Given the description of an element on the screen output the (x, y) to click on. 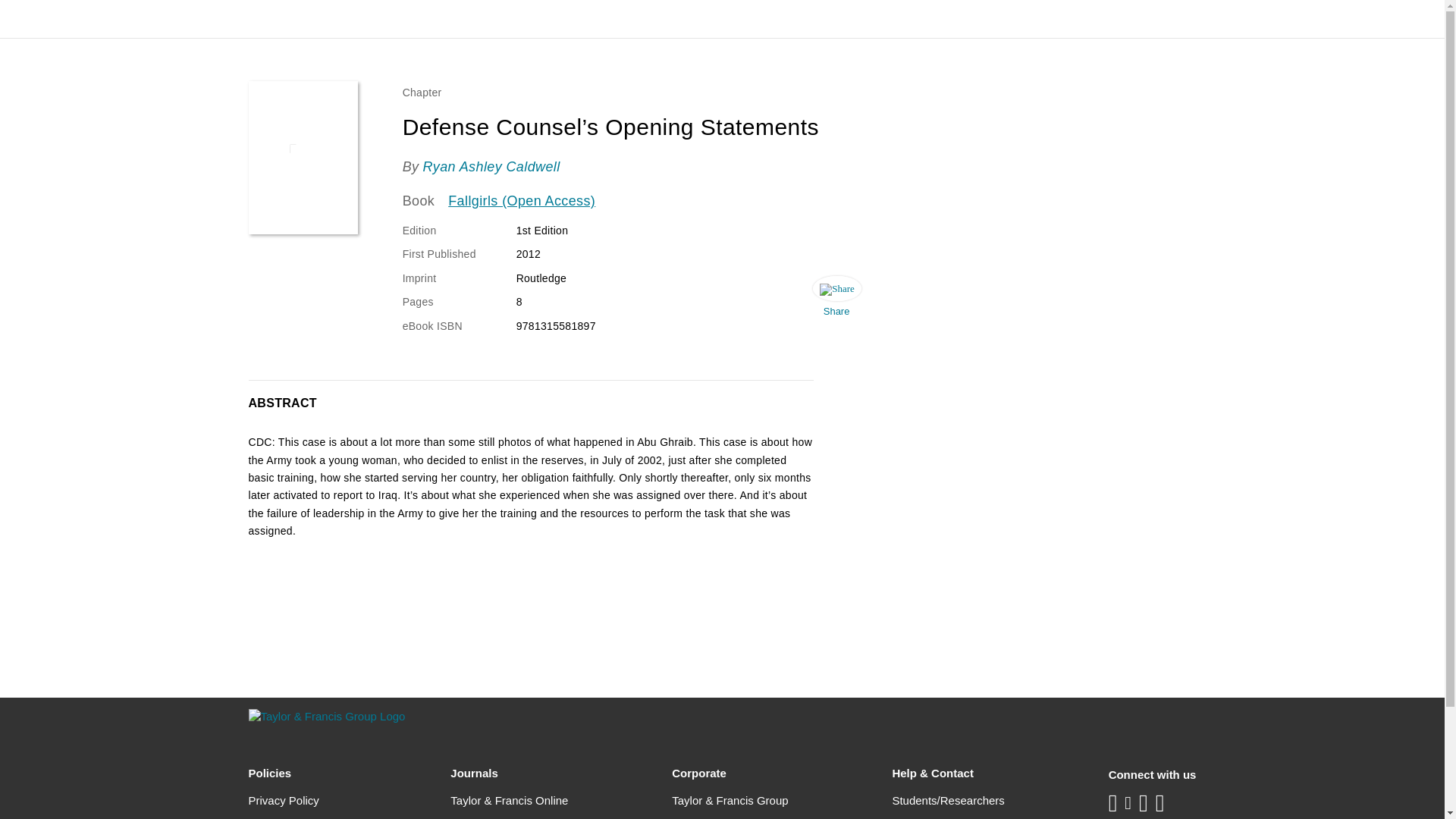
Share (836, 299)
Privacy Policy (283, 800)
Ryan Ashley Caldwell (490, 166)
